Given the description of an element on the screen output the (x, y) to click on. 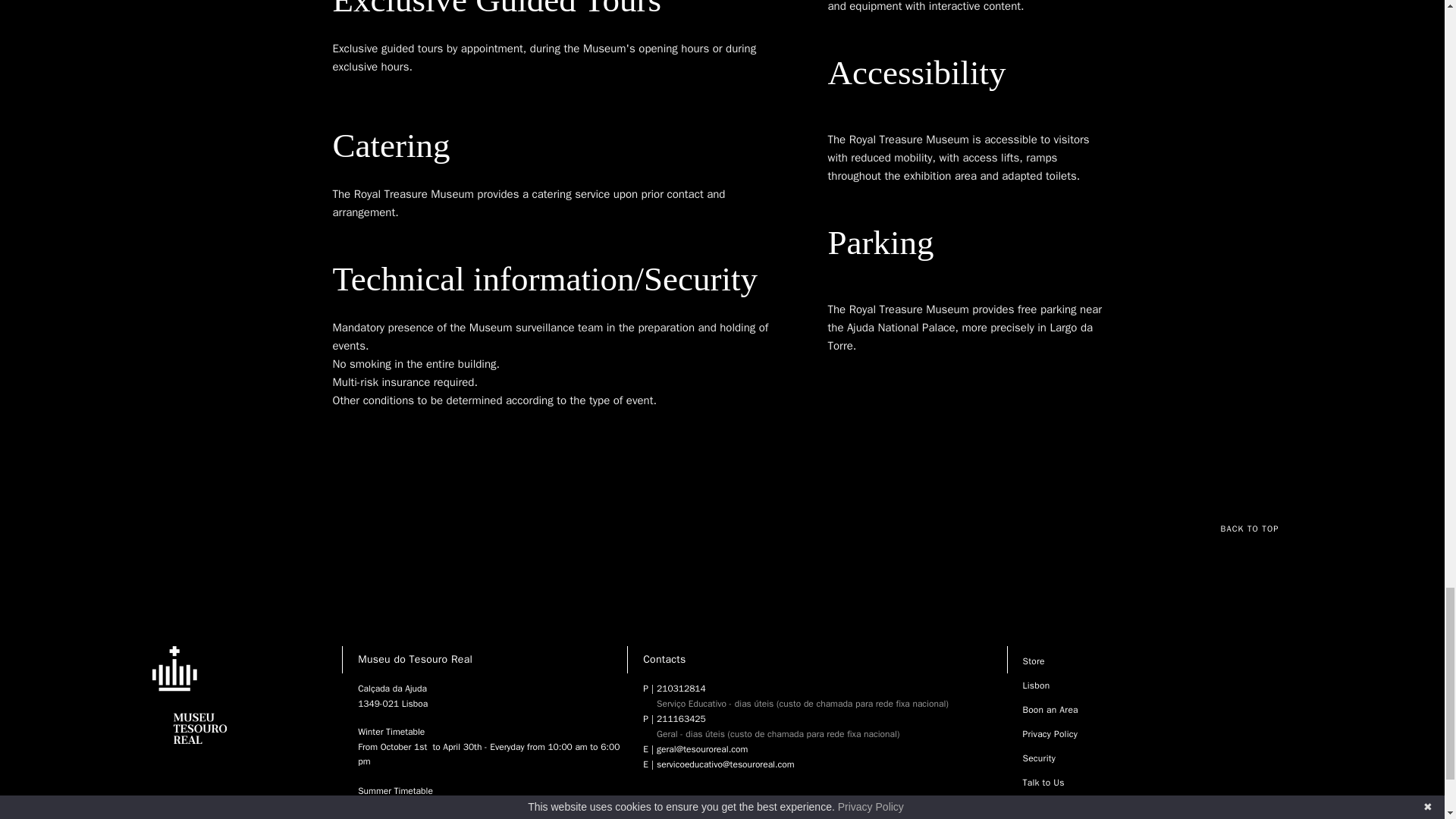
211163425 (777, 718)
Boon an Area (1049, 709)
Lisbon (1035, 685)
Security (1038, 758)
Store (1032, 661)
Privacy Policy (1049, 734)
BACK TO TOP (1256, 528)
210312814 (802, 688)
Talk to Us (1043, 782)
